Given the description of an element on the screen output the (x, y) to click on. 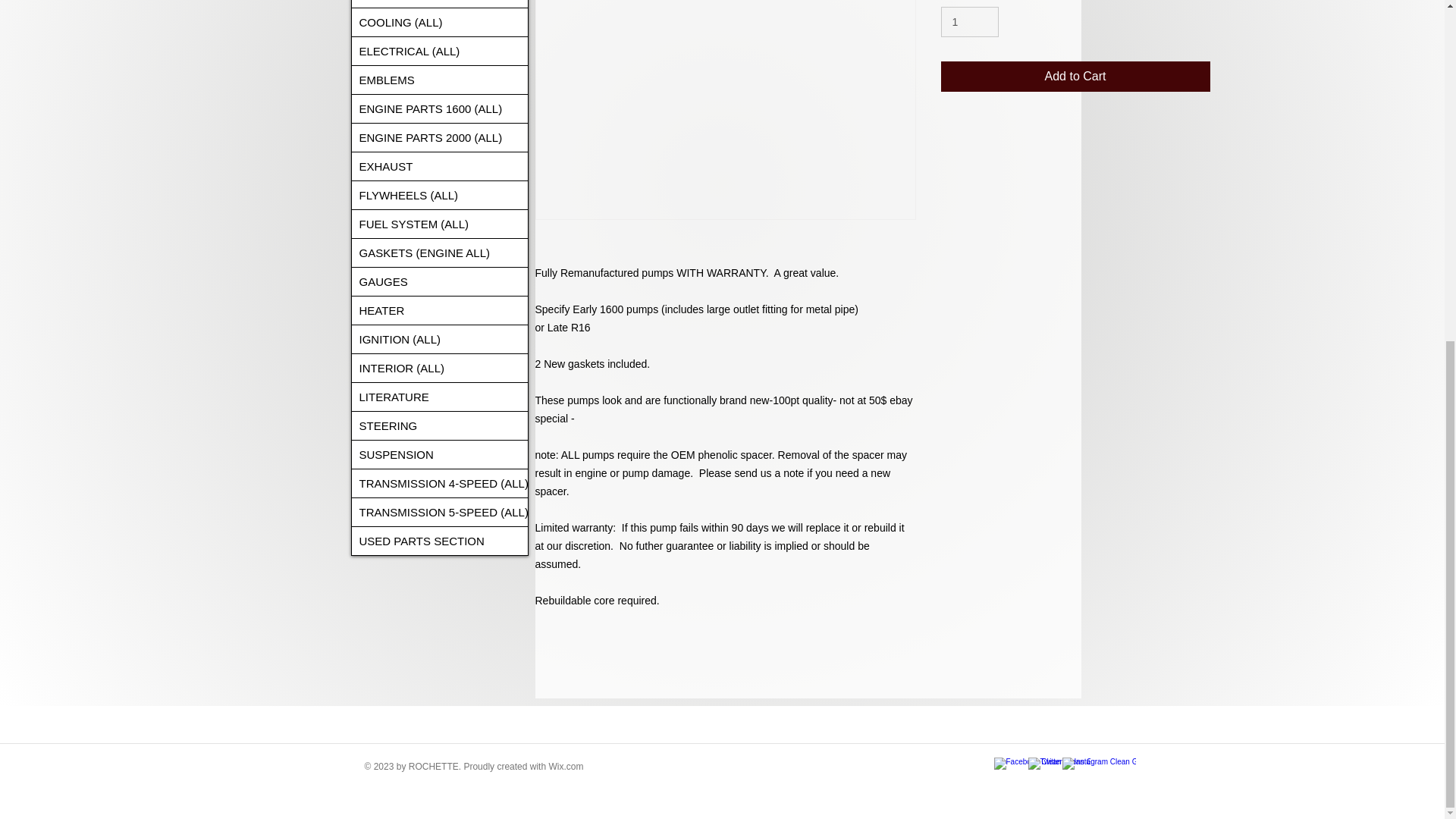
1 (968, 21)
Add to Cart (1074, 76)
